Given the description of an element on the screen output the (x, y) to click on. 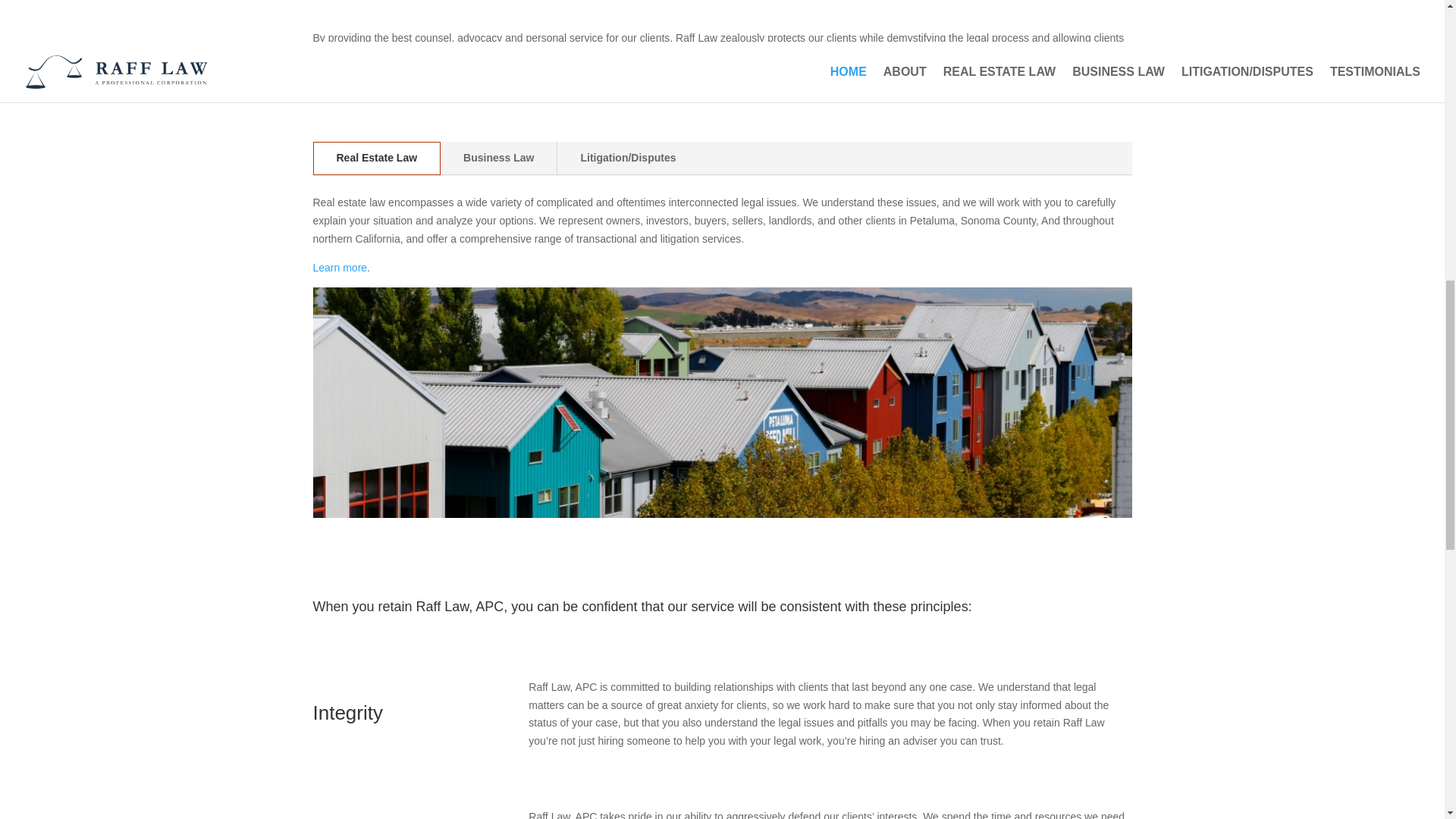
Business Law (498, 158)
Learn more (339, 267)
Real Estate Law (377, 158)
